Given the description of an element on the screen output the (x, y) to click on. 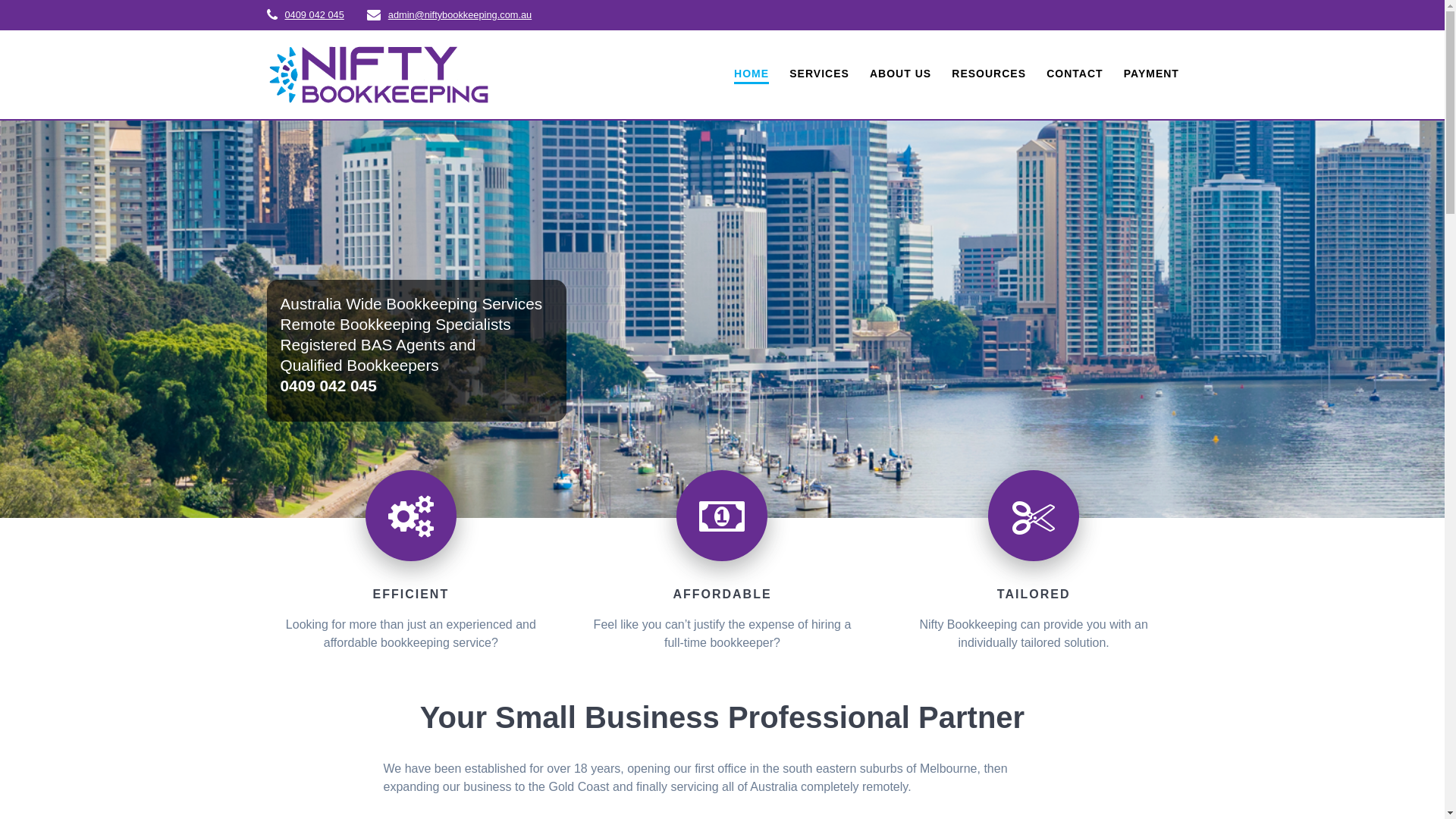
PAYMENT Element type: text (1151, 74)
admin@niftybookkeeping.com.au Element type: text (459, 14)
0409 042 045 Element type: text (314, 14)
CONTACT Element type: text (1074, 74)
RESOURCES Element type: text (988, 74)
ABOUT US Element type: text (900, 74)
HOME Element type: text (751, 74)
10 User Reviews Element type: text (1273, 786)
SERVICES Element type: text (819, 74)
